Given the description of an element on the screen output the (x, y) to click on. 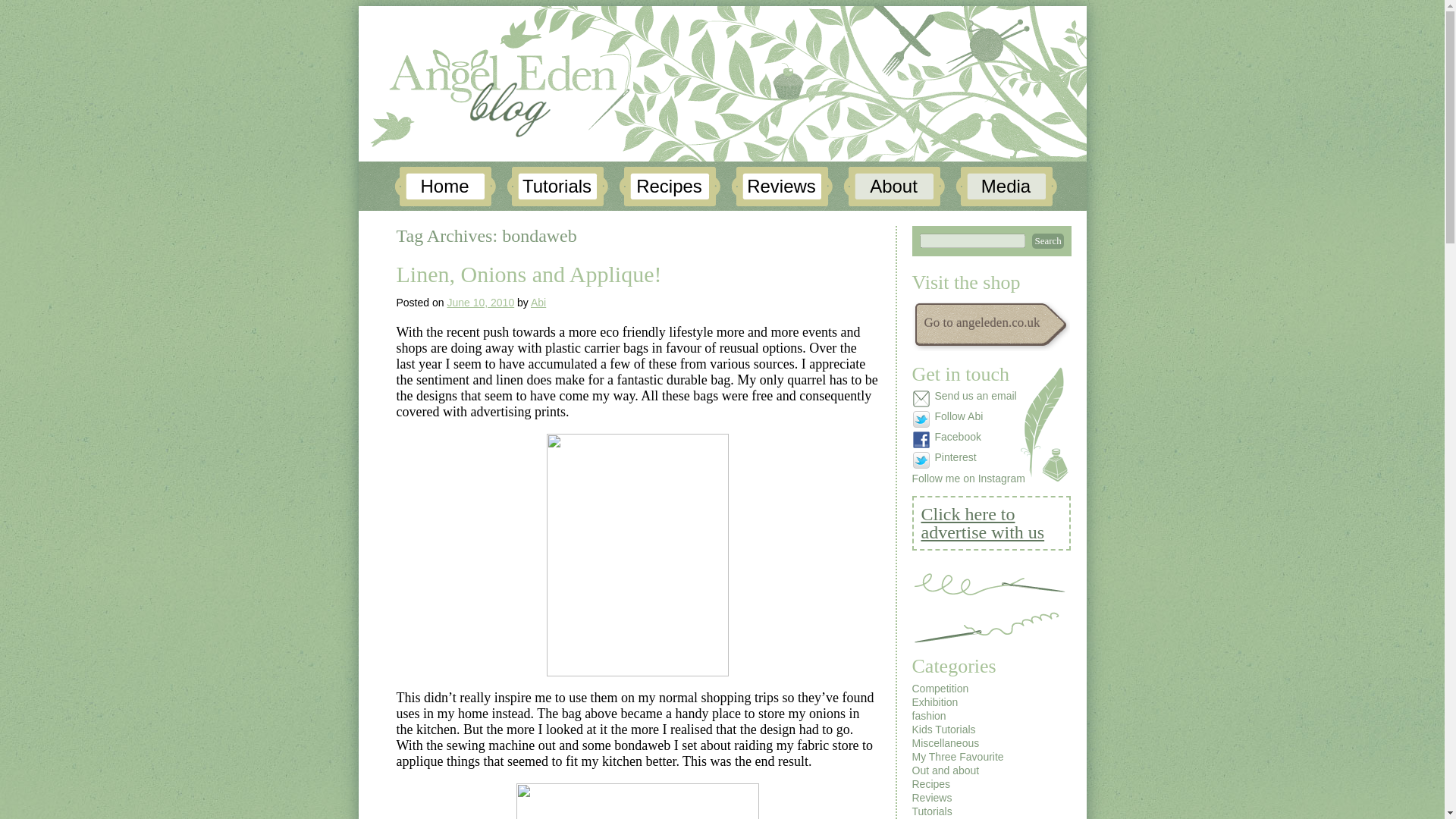
Follow me on Instagram (968, 478)
Follow Abi (968, 419)
Linen, Onions and Applique! (528, 273)
Kids Tutorials (943, 729)
Miscellaneous (944, 743)
Facebook (968, 439)
Abi (538, 302)
Competition (939, 688)
Search (1046, 240)
Exhibition (934, 702)
Click here to advertise with us (990, 523)
Send us an email (968, 398)
Reviews (781, 186)
About (893, 186)
Tutorials (557, 186)
